Given the description of an element on the screen output the (x, y) to click on. 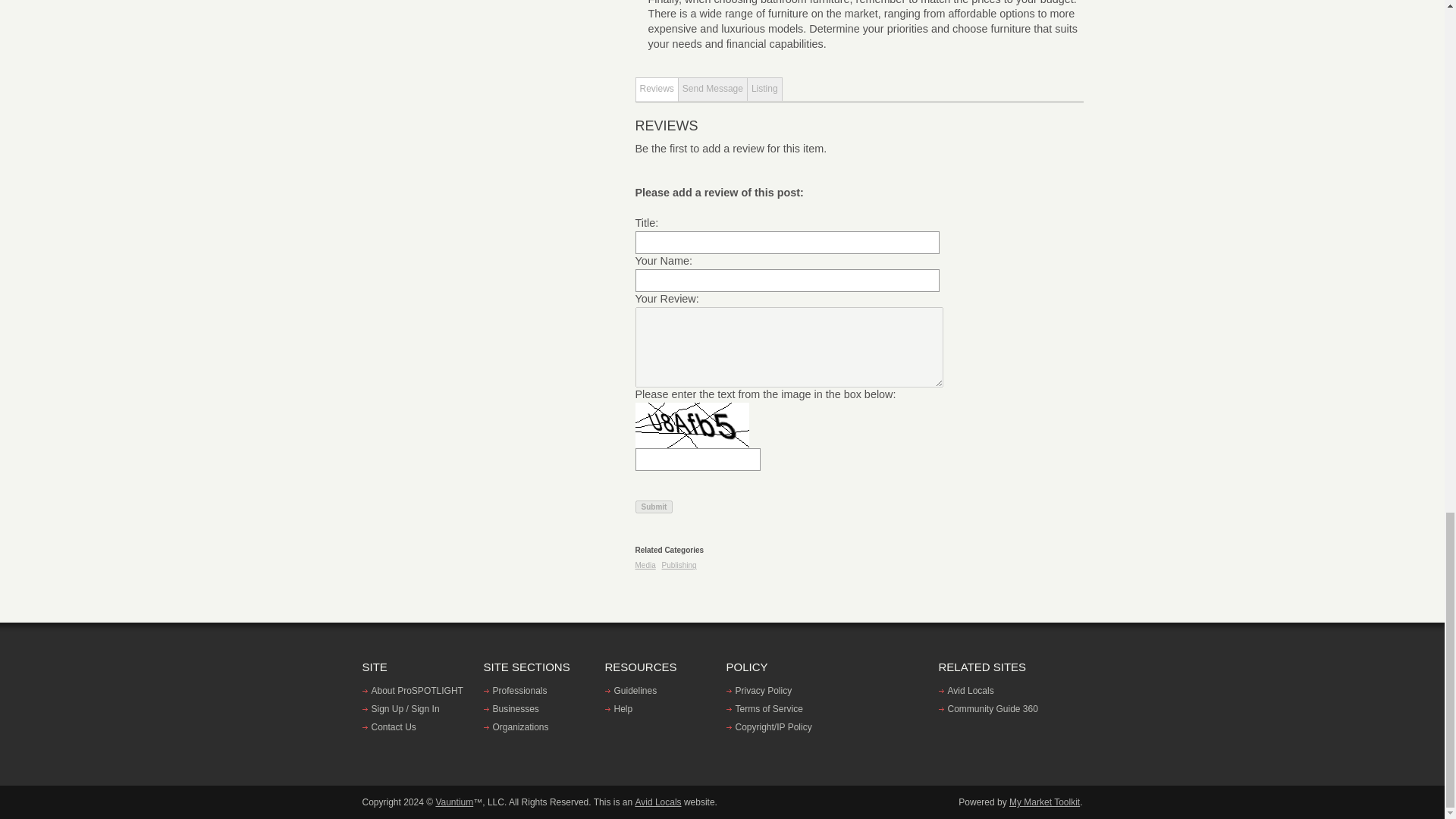
Publishing (679, 565)
Businesses (510, 708)
About ProSPOTLIGHT (412, 690)
Listing (765, 88)
Reviews (656, 88)
Guidelines (631, 690)
Submit (653, 506)
Send Message (713, 88)
Contact Us (389, 727)
Vauntium (454, 801)
Terms of Service (764, 708)
Community Guide 360 (988, 708)
Avid Locals (966, 690)
Submit (653, 506)
Privacy Policy (759, 690)
